Given the description of an element on the screen output the (x, y) to click on. 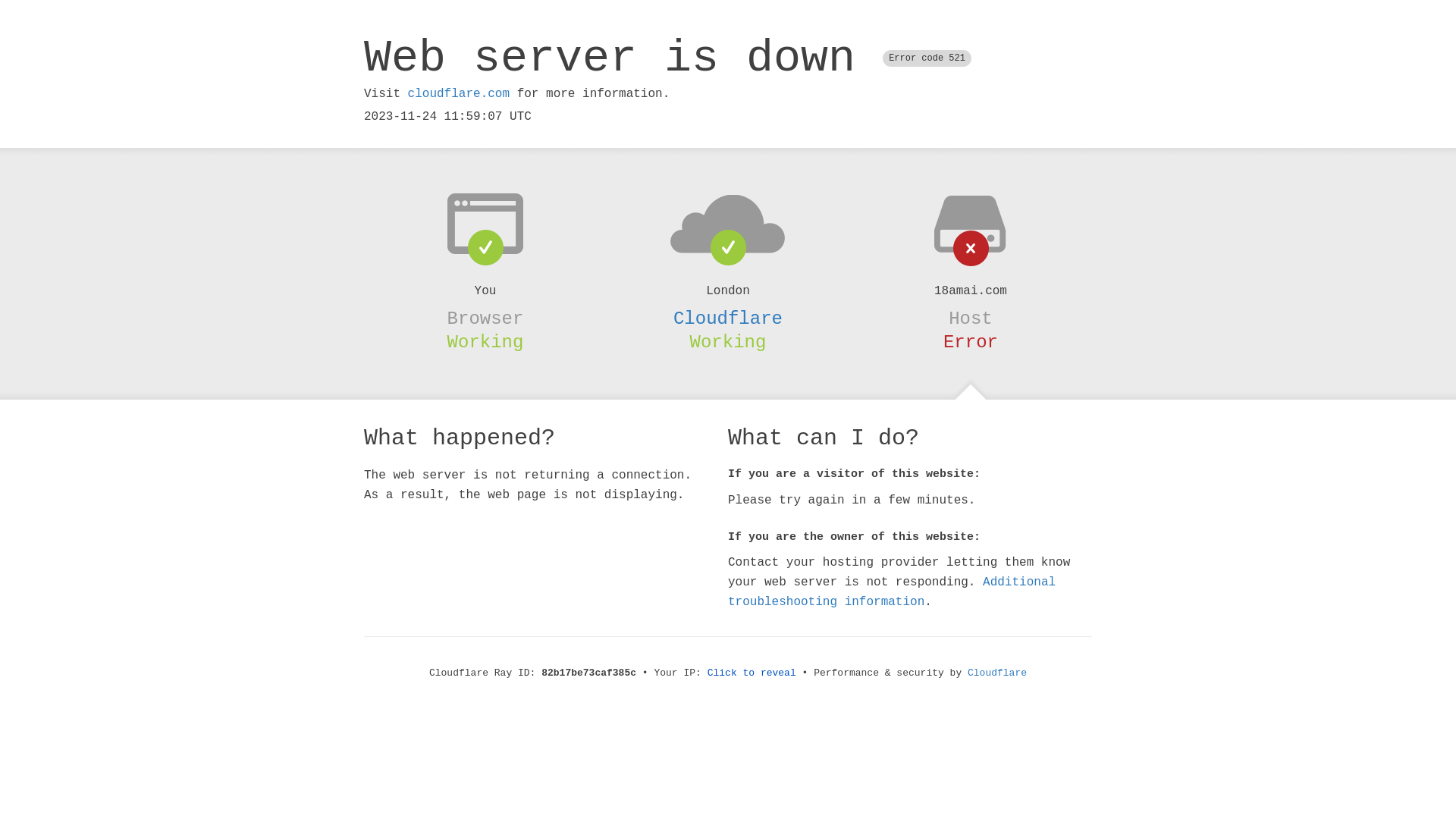
Cloudflare Element type: text (996, 672)
Additional troubleshooting information Element type: text (891, 591)
Click to reveal Element type: text (751, 672)
Cloudflare Element type: text (727, 318)
cloudflare.com Element type: text (458, 93)
